Given the description of an element on the screen output the (x, y) to click on. 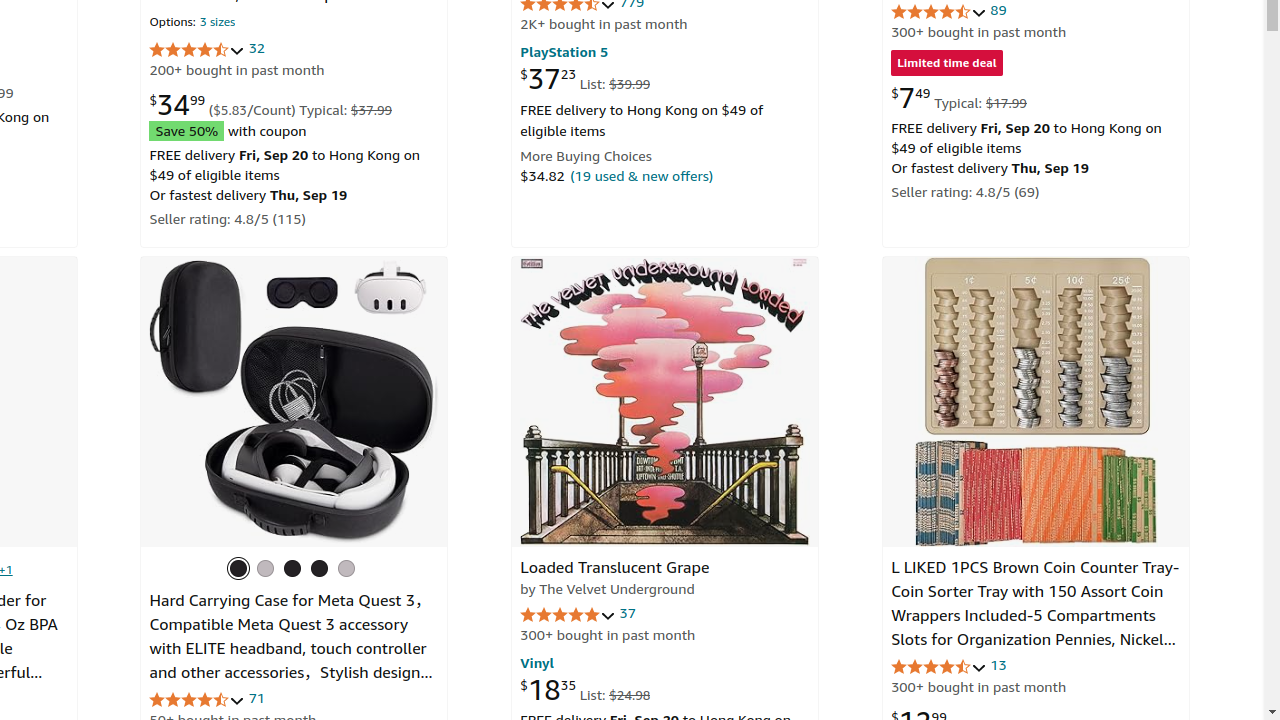
4.5 out of 5 stars Element type: push-button (939, 666)
$18.35 List: $24.98 Element type: link (585, 689)
Vinyl Element type: link (537, 662)
4.9 out of 5 stars Element type: push-button (568, 614)
Black Element type: push-button (238, 568)
